Given the description of an element on the screen output the (x, y) to click on. 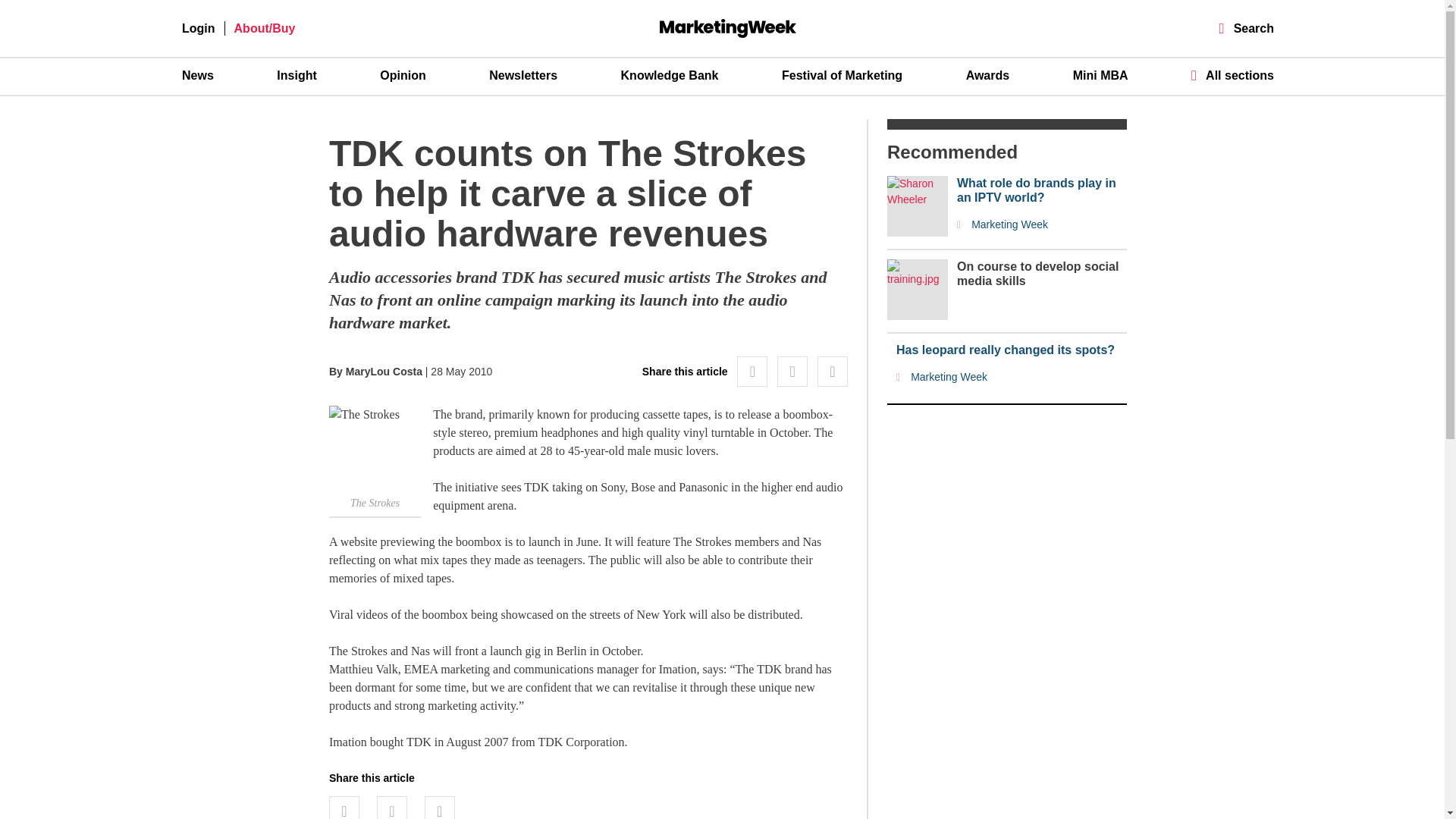
Mini MBA (1100, 75)
Login (198, 28)
Newsletters (523, 75)
Festival of Marketing (841, 75)
Has leopard really changed its spots? (1011, 350)
What role do brands play in an IPTV world? (1041, 190)
Marketing Week (1041, 224)
All sections (1232, 74)
All sections (1232, 74)
MaryLou Costa (384, 371)
